Given the description of an element on the screen output the (x, y) to click on. 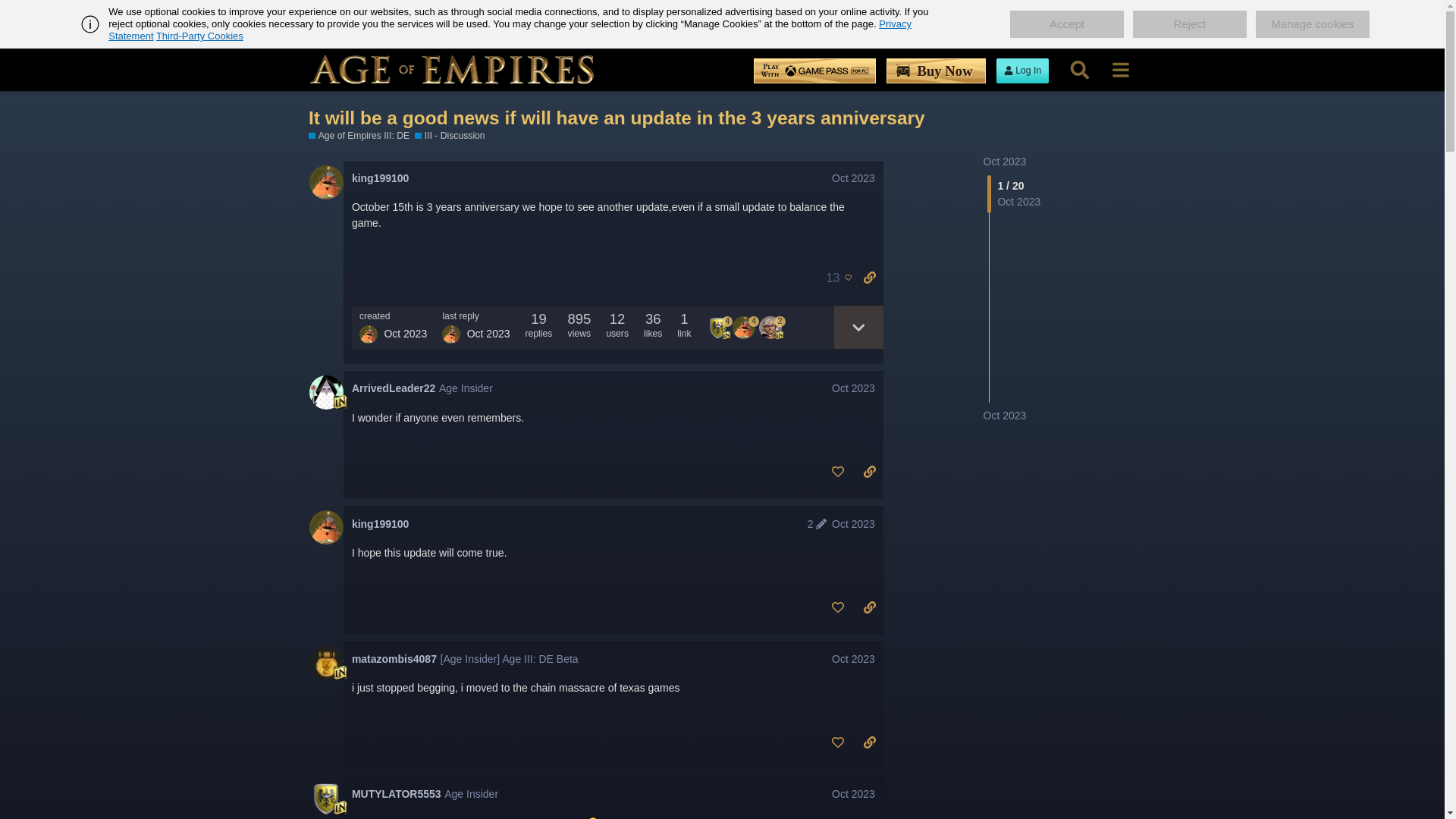
Age of Empires III: DE (358, 135)
Privacy Statement (509, 29)
13 people liked this post (834, 277)
Buy Now (935, 70)
Play With Game Pass (815, 70)
Log In (1021, 70)
Search (1079, 69)
menu (1120, 69)
III - Discussion (449, 135)
